Given the description of an element on the screen output the (x, y) to click on. 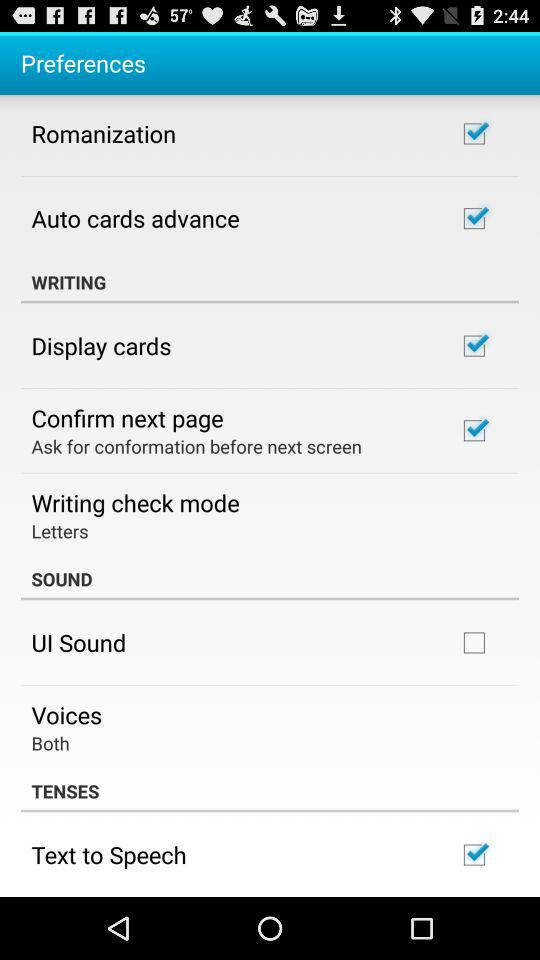
press the app below romanization (135, 218)
